Given the description of an element on the screen output the (x, y) to click on. 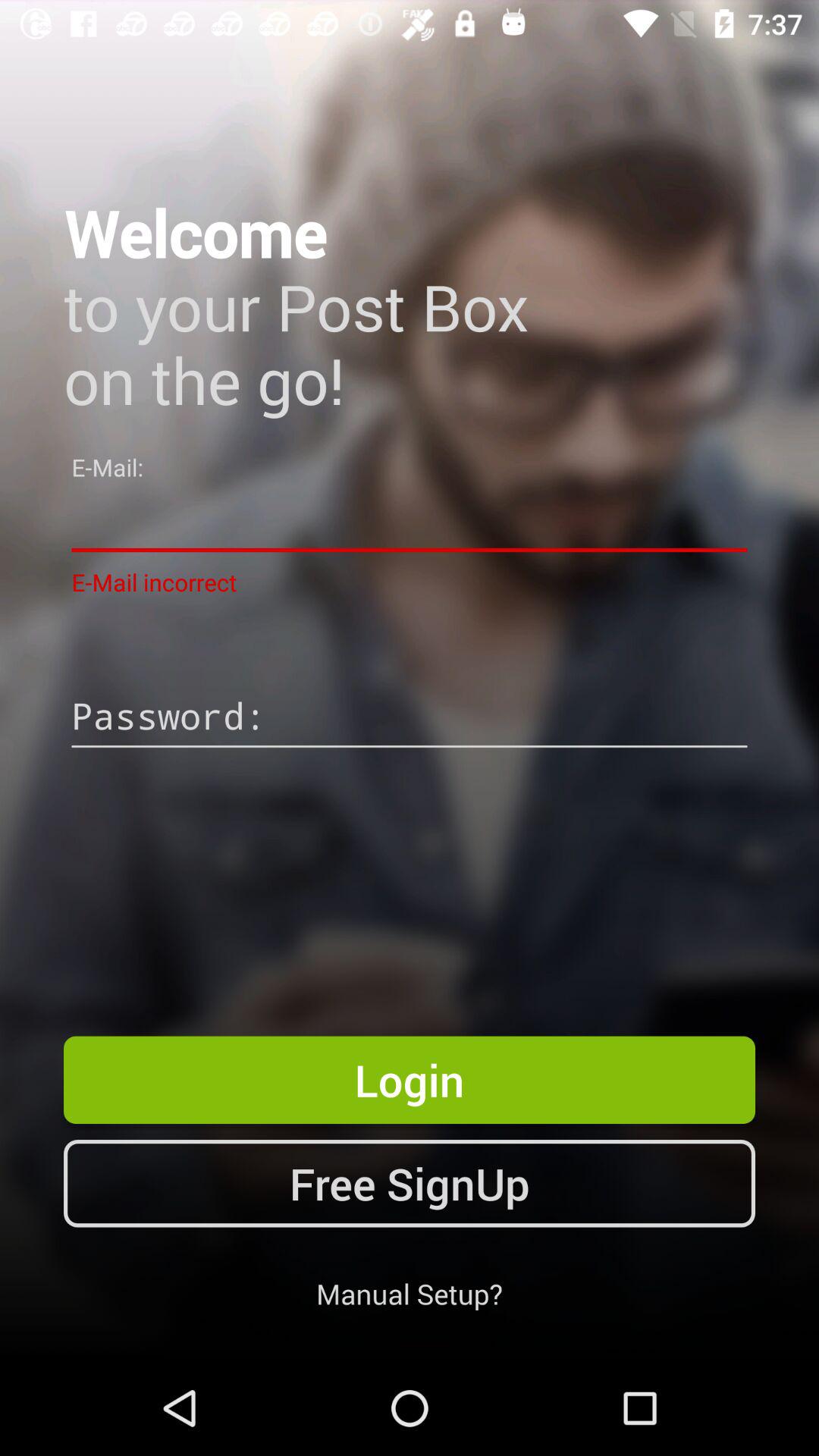
launch the item above login (409, 718)
